Given the description of an element on the screen output the (x, y) to click on. 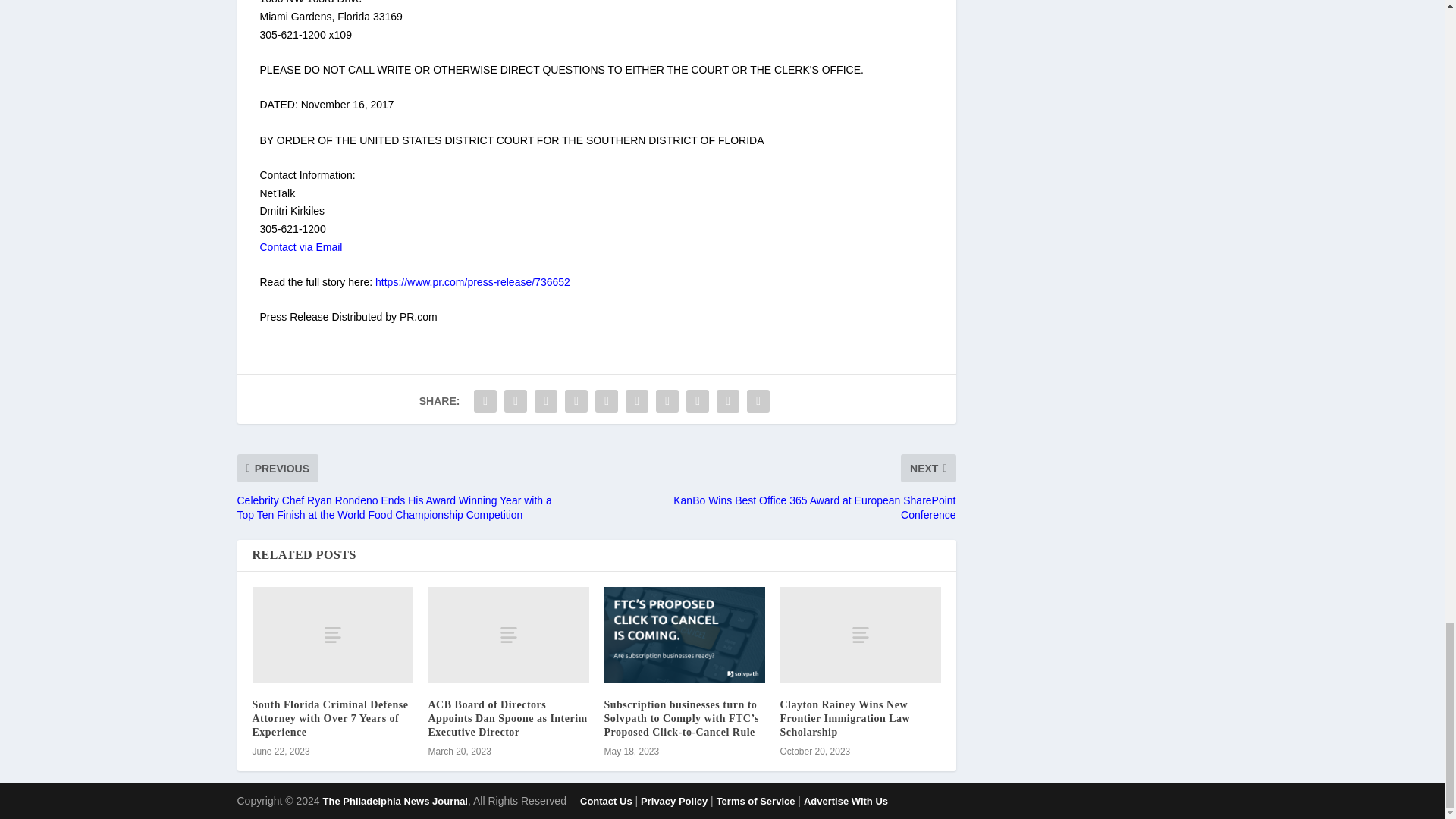
Contact via Email (300, 246)
Clayton Rainey Wins New Frontier Immigration Law Scholarship (859, 635)
